Given the description of an element on the screen output the (x, y) to click on. 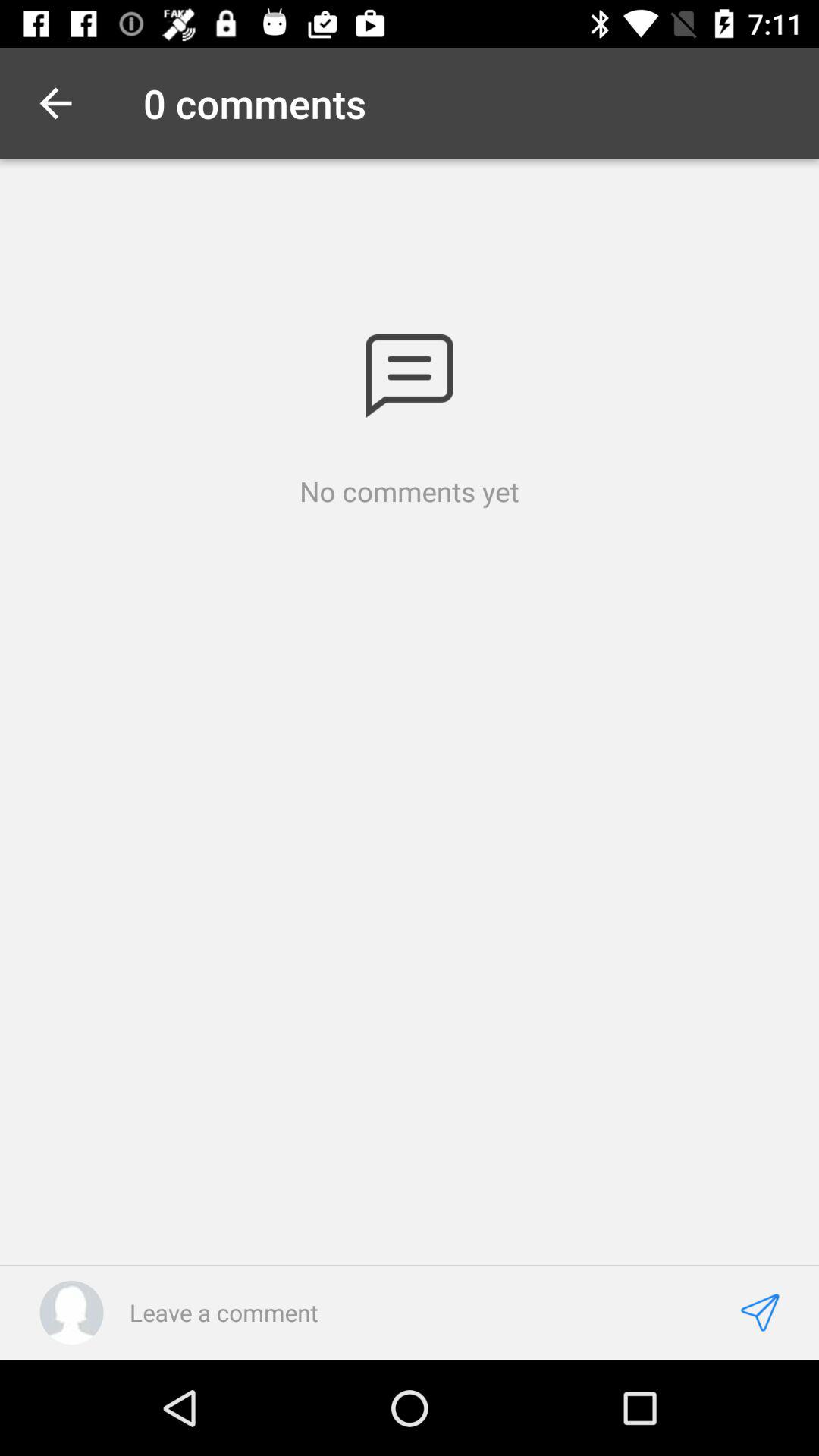
select no comments yet icon (409, 491)
